Given the description of an element on the screen output the (x, y) to click on. 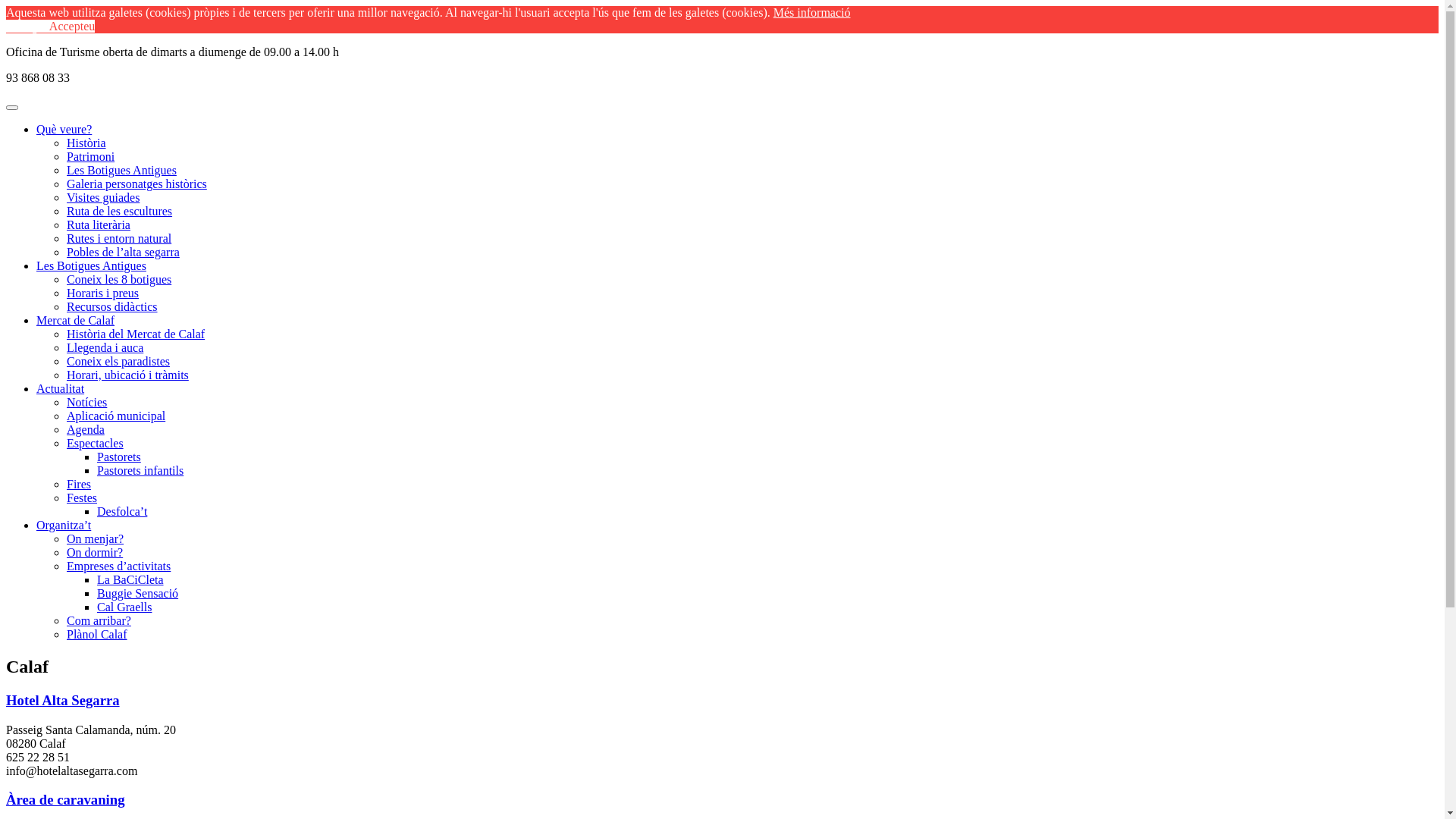
Actualitat Element type: text (60, 388)
On dormir? Element type: text (94, 552)
On menjar? Element type: text (94, 538)
Festes Element type: text (81, 497)
Espectacles Element type: text (94, 442)
Hotel Alta Segarra Element type: text (62, 700)
Llegenda i auca Element type: text (104, 347)
Fires Element type: text (78, 483)
Les Botigues Antigues Element type: text (91, 265)
Mercat de Calaf Element type: text (75, 319)
Coneix les 8 botigues Element type: text (118, 279)
La BaCiCleta Element type: text (130, 579)
Com arribar? Element type: text (98, 620)
Pastorets infantils Element type: text (140, 470)
Coneix els paradistes Element type: text (117, 360)
Rutes i entorn natural Element type: text (118, 238)
Ruta de les escultures Element type: text (119, 210)
Visites guiades Element type: text (102, 197)
Pastorets Element type: text (119, 456)
Les Botigues Antigues Element type: text (121, 169)
Patrimoni Element type: text (90, 156)
Cal Graells Element type: text (124, 606)
Denegeu Element type: text (27, 25)
Horaris i preus Element type: text (102, 292)
Agenda Element type: text (85, 429)
Accepteu Element type: text (71, 25)
